Given the description of an element on the screen output the (x, y) to click on. 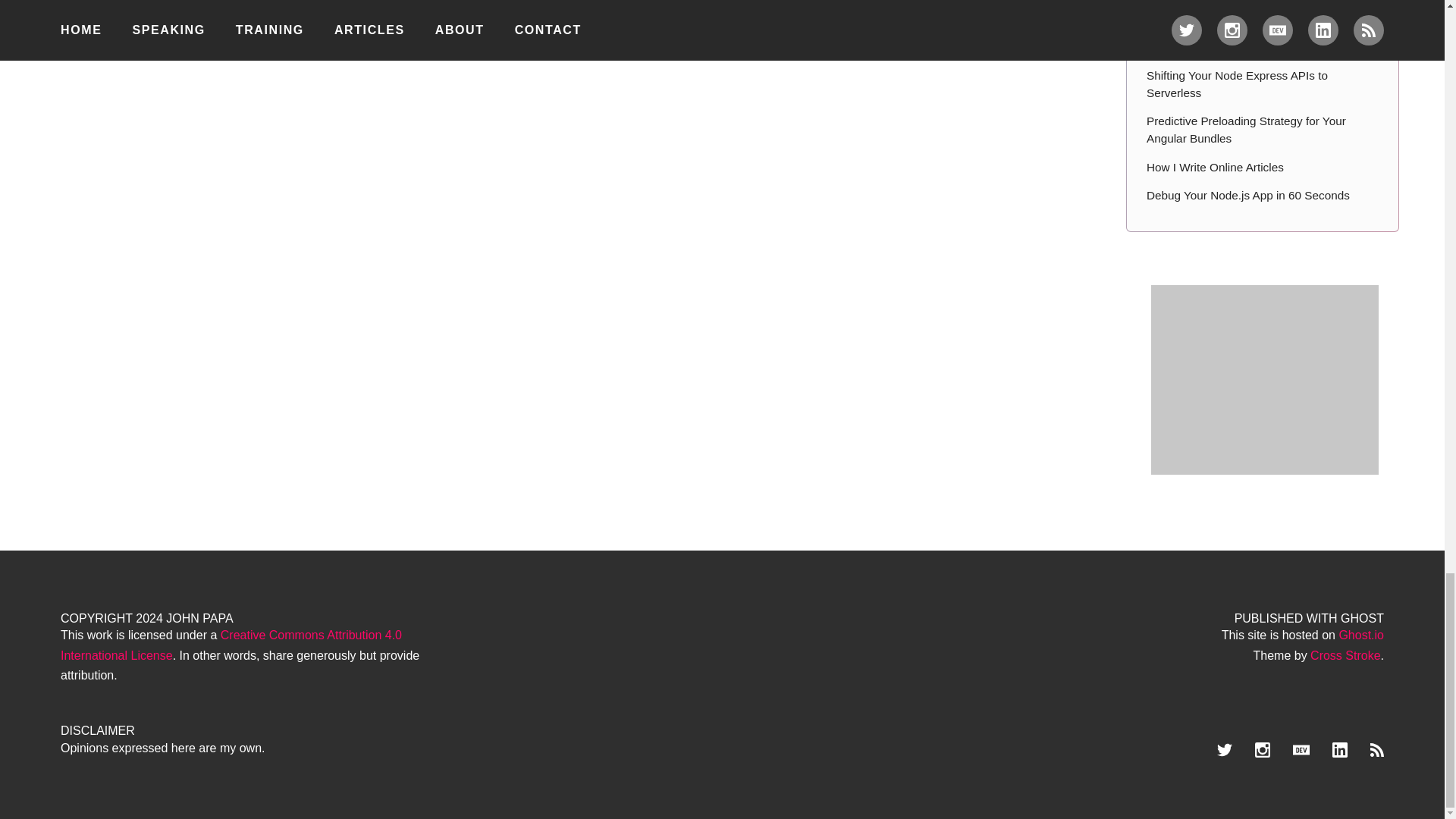
Debug Angular 9: Interacting with Components (1262, 5)
